Given the description of an element on the screen output the (x, y) to click on. 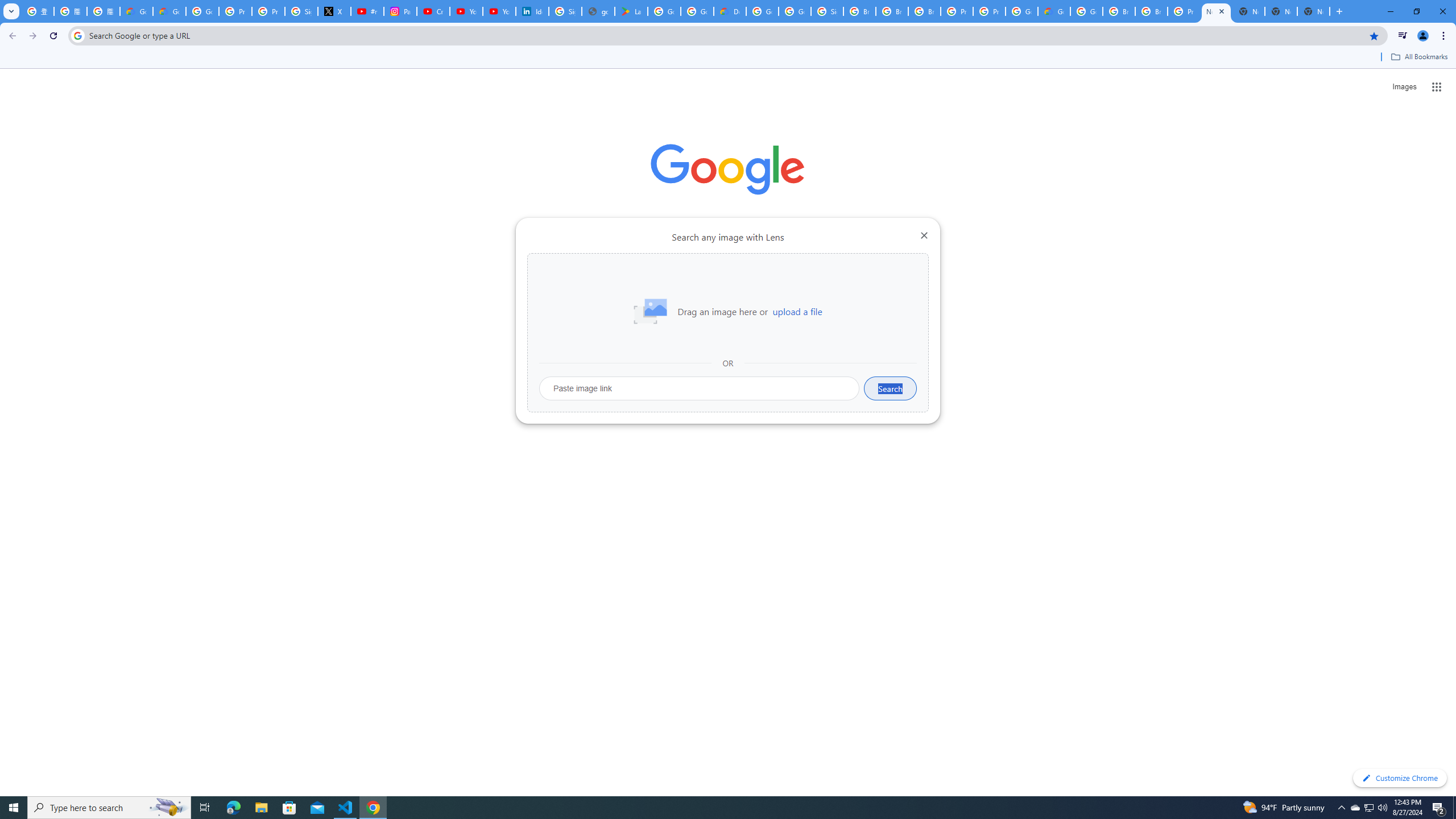
Google Cloud Estimate Summary (1053, 11)
Google Workspace - Specific Terms (697, 11)
Google Cloud Platform (1021, 11)
Last Shelter: Survival - Apps on Google Play (631, 11)
